Given the description of an element on the screen output the (x, y) to click on. 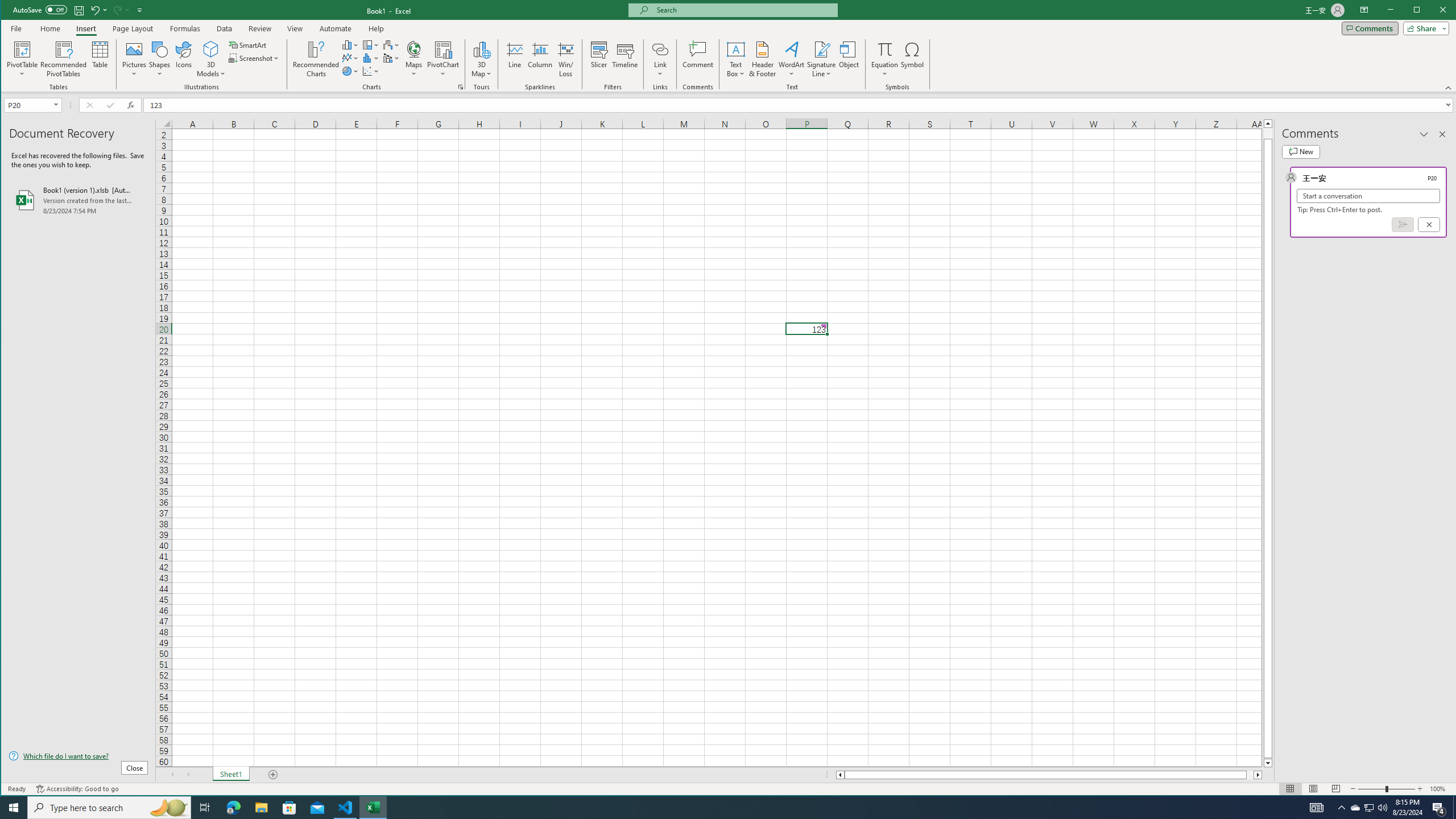
Line (514, 59)
Equation (884, 48)
Post comment (Ctrl + Enter) (1402, 224)
Table (100, 59)
Win/Loss (565, 59)
WordArt (791, 59)
